Given the description of an element on the screen output the (x, y) to click on. 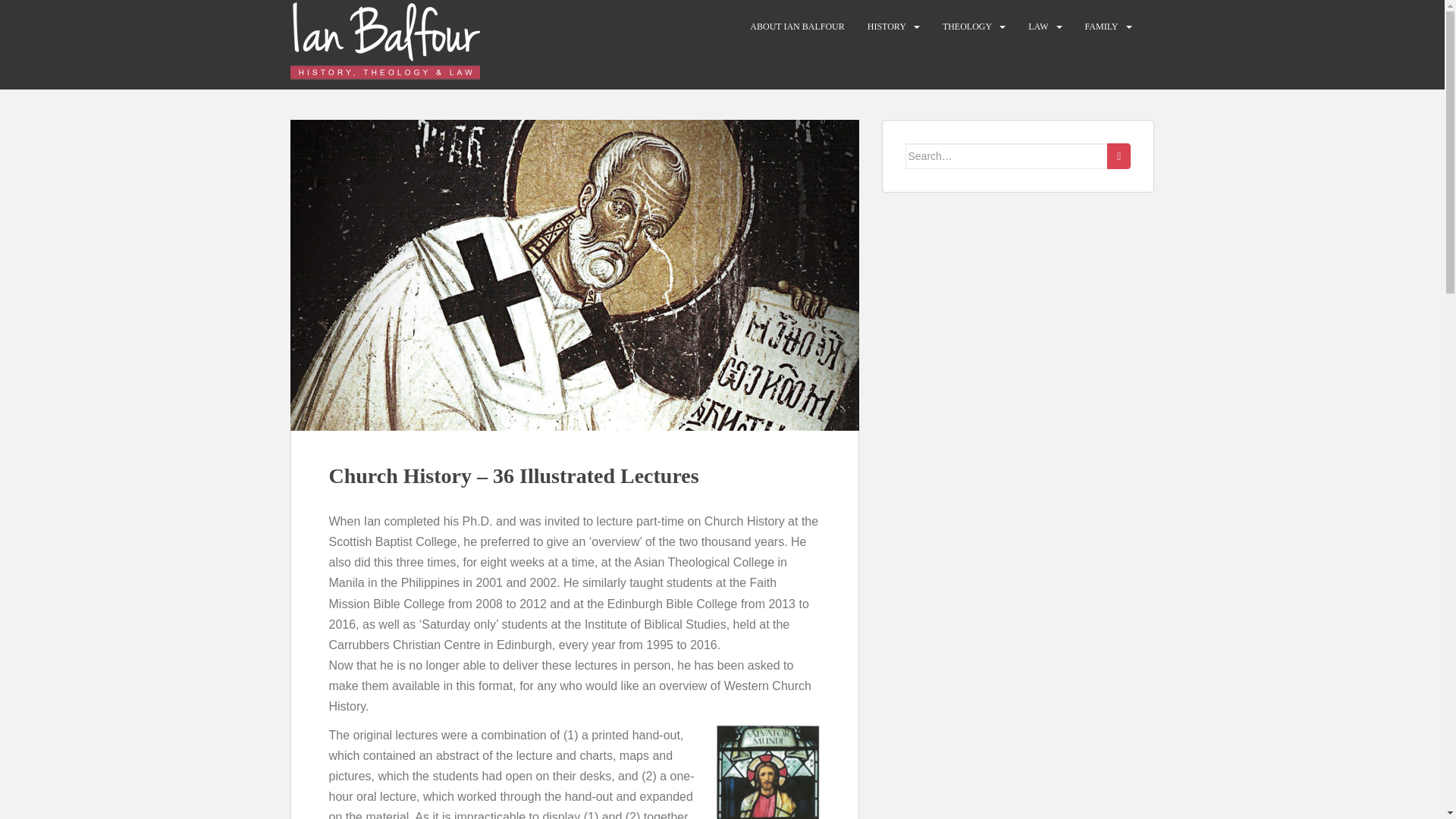
ABOUT IAN BALFOUR (796, 26)
Search for: (1006, 155)
HISTORY (886, 26)
THEOLOGY (966, 26)
